Given the description of an element on the screen output the (x, y) to click on. 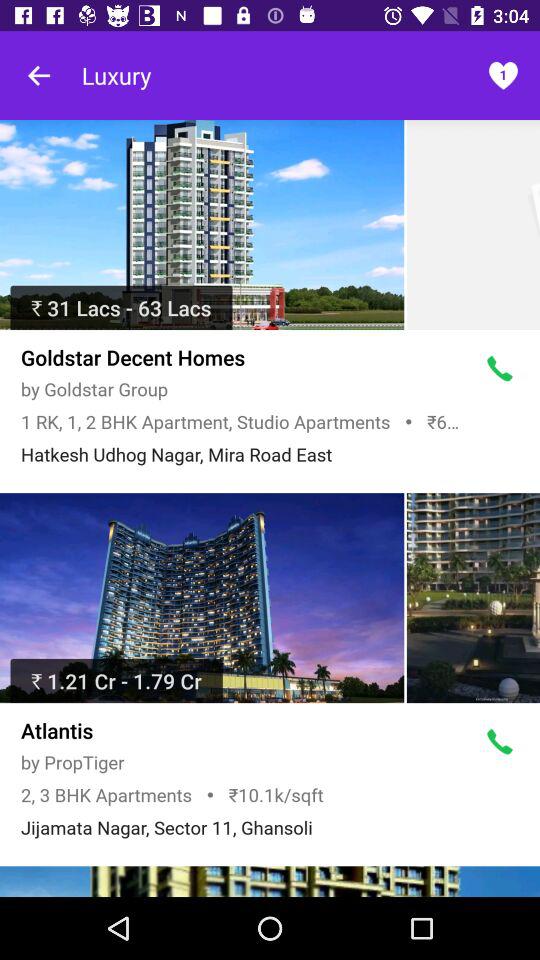
turn on item next to luxury item (39, 75)
